Given the description of an element on the screen output the (x, y) to click on. 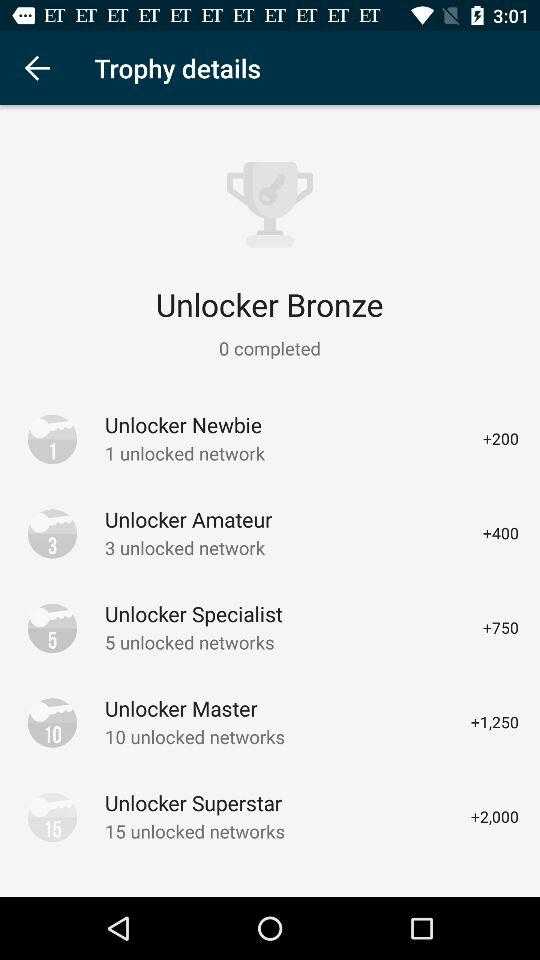
go back (36, 68)
